Given the description of an element on the screen output the (x, y) to click on. 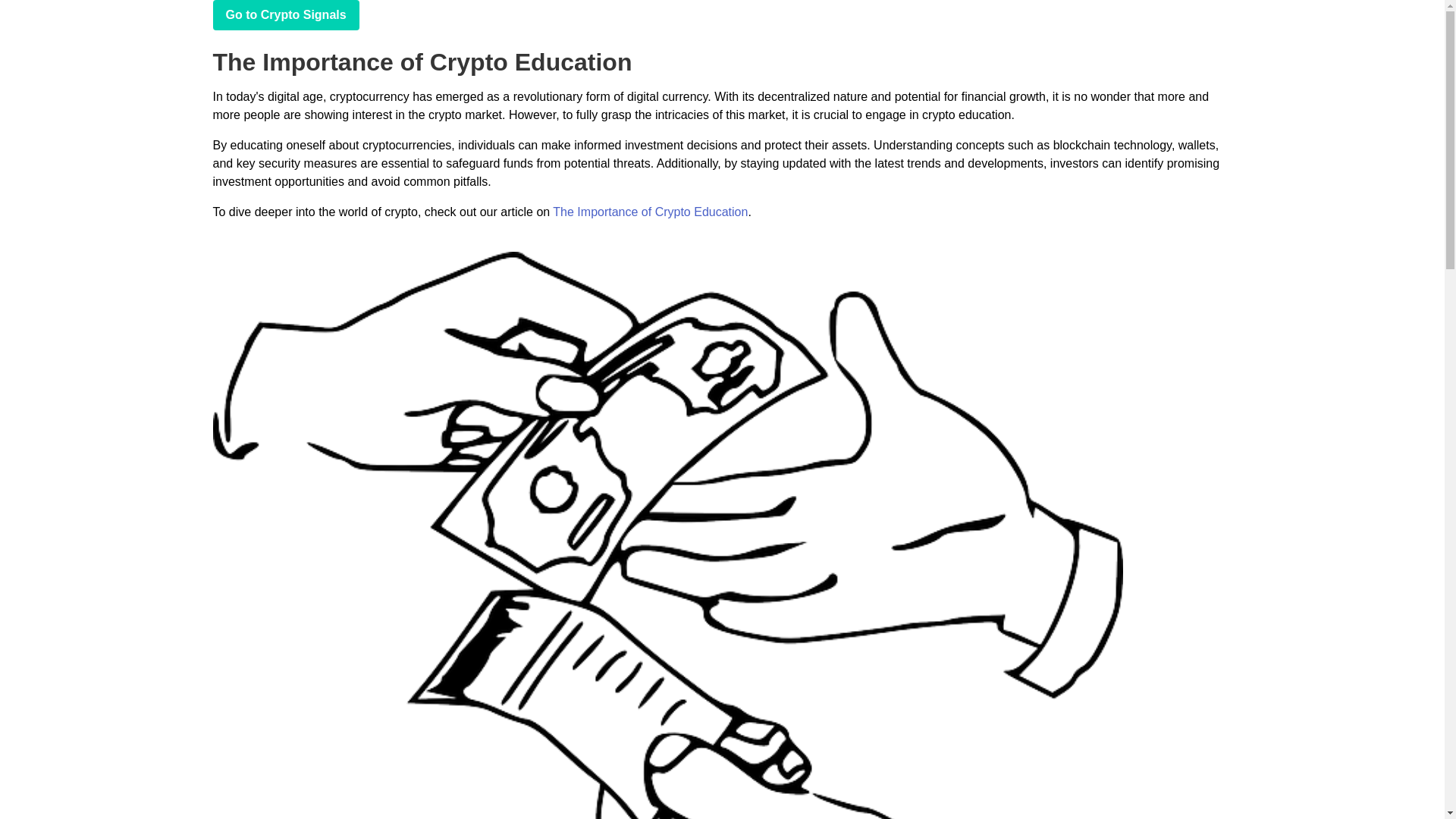
Go to Crypto Signals (285, 15)
The Importance of Crypto Education (650, 211)
play (285, 15)
